Given the description of an element on the screen output the (x, y) to click on. 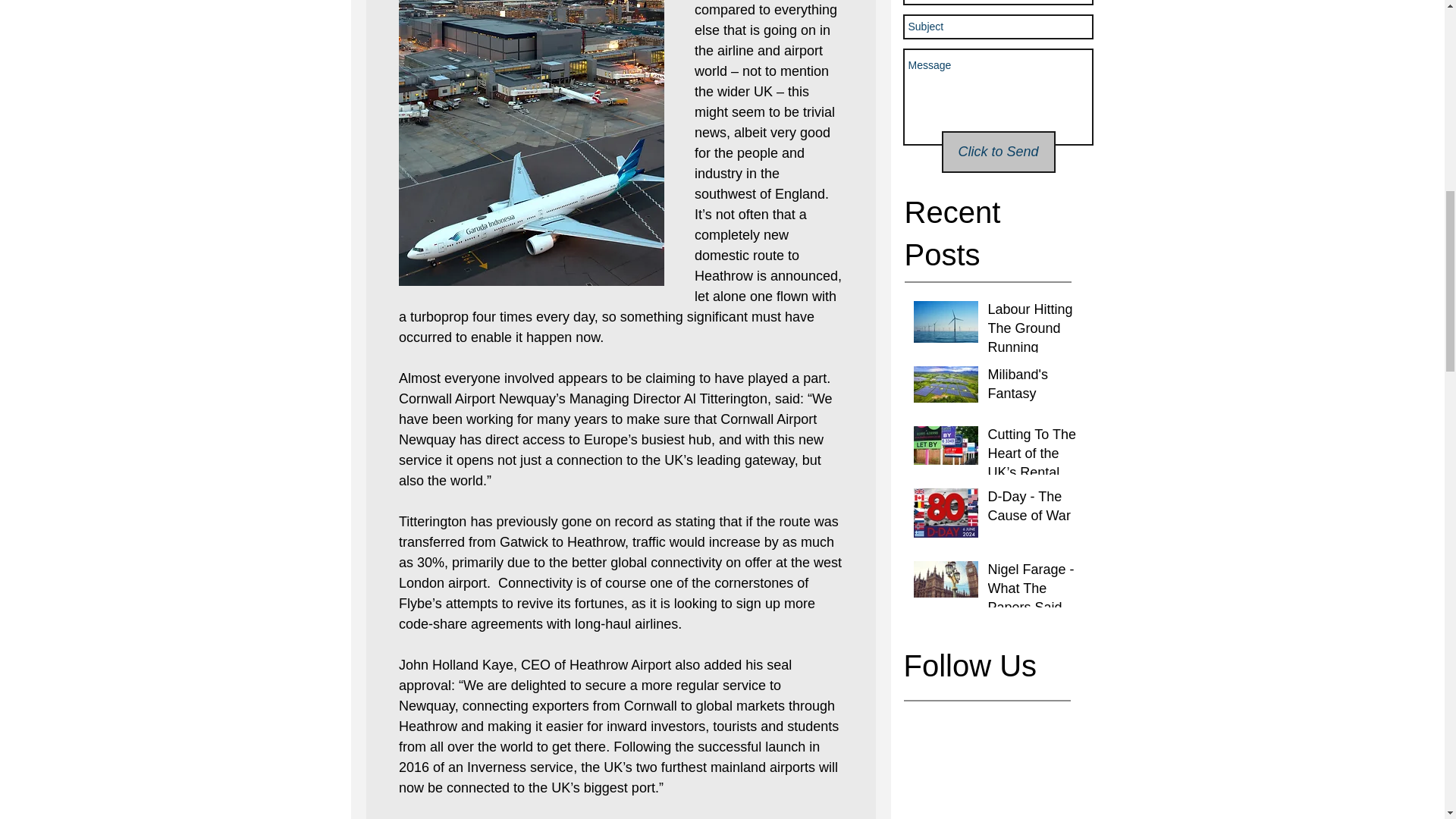
Click to Send (998, 151)
Labour Hitting The Ground Running (1035, 331)
D-Day - The Cause of War (1035, 509)
Nigel Farage -What The Papers Said (1035, 592)
Miliband's Fantasy (1035, 387)
